Given the description of an element on the screen output the (x, y) to click on. 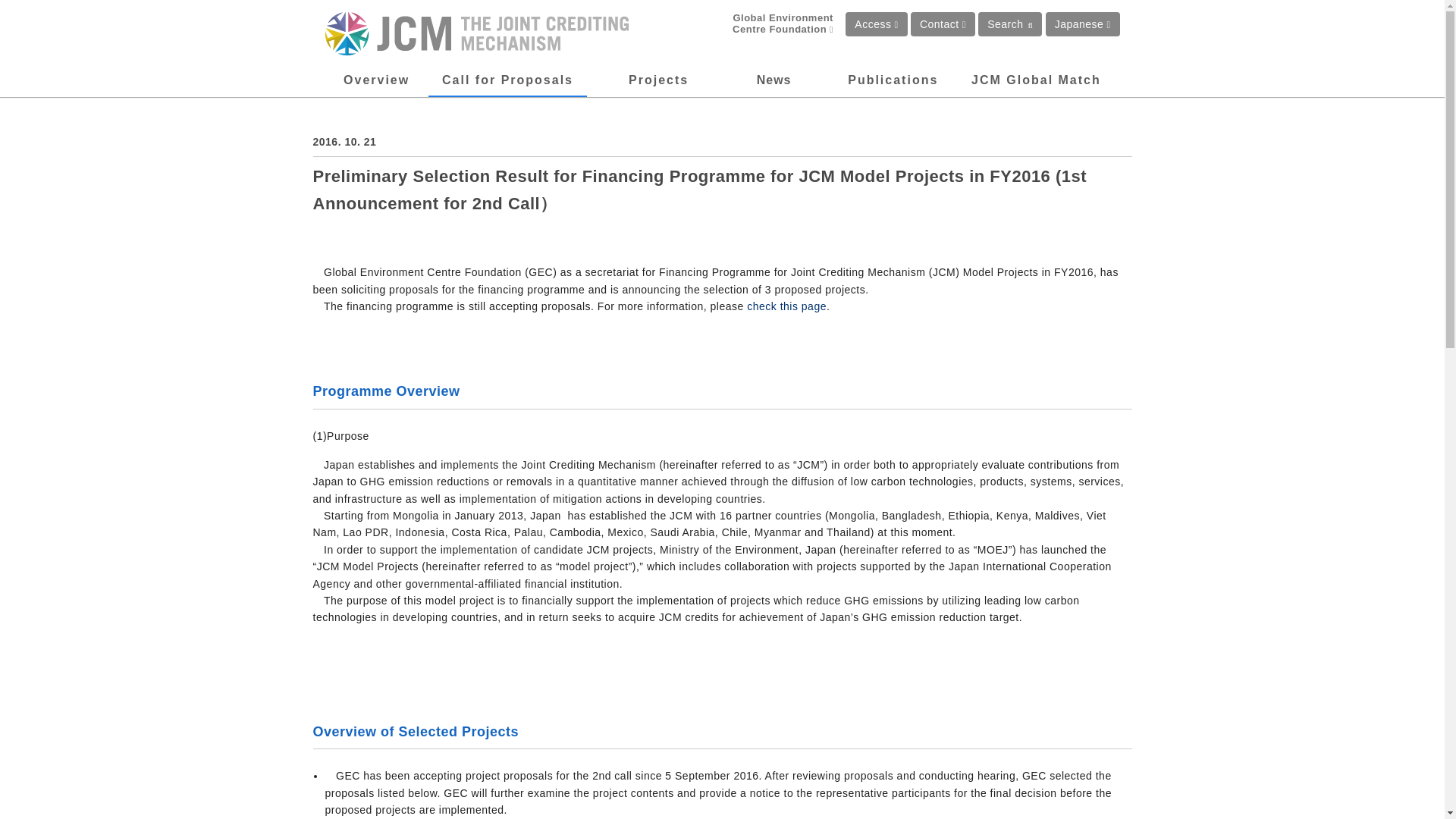
Publications (892, 79)
Projects (658, 79)
check this page (786, 306)
JCM Global Match (1035, 79)
Call for Proposals (508, 79)
Search (1010, 24)
Contact (943, 24)
Overview (376, 79)
Global Environment Centre Foundation (769, 24)
Japanese (1082, 24)
Access (876, 24)
News (773, 79)
